Given the description of an element on the screen output the (x, y) to click on. 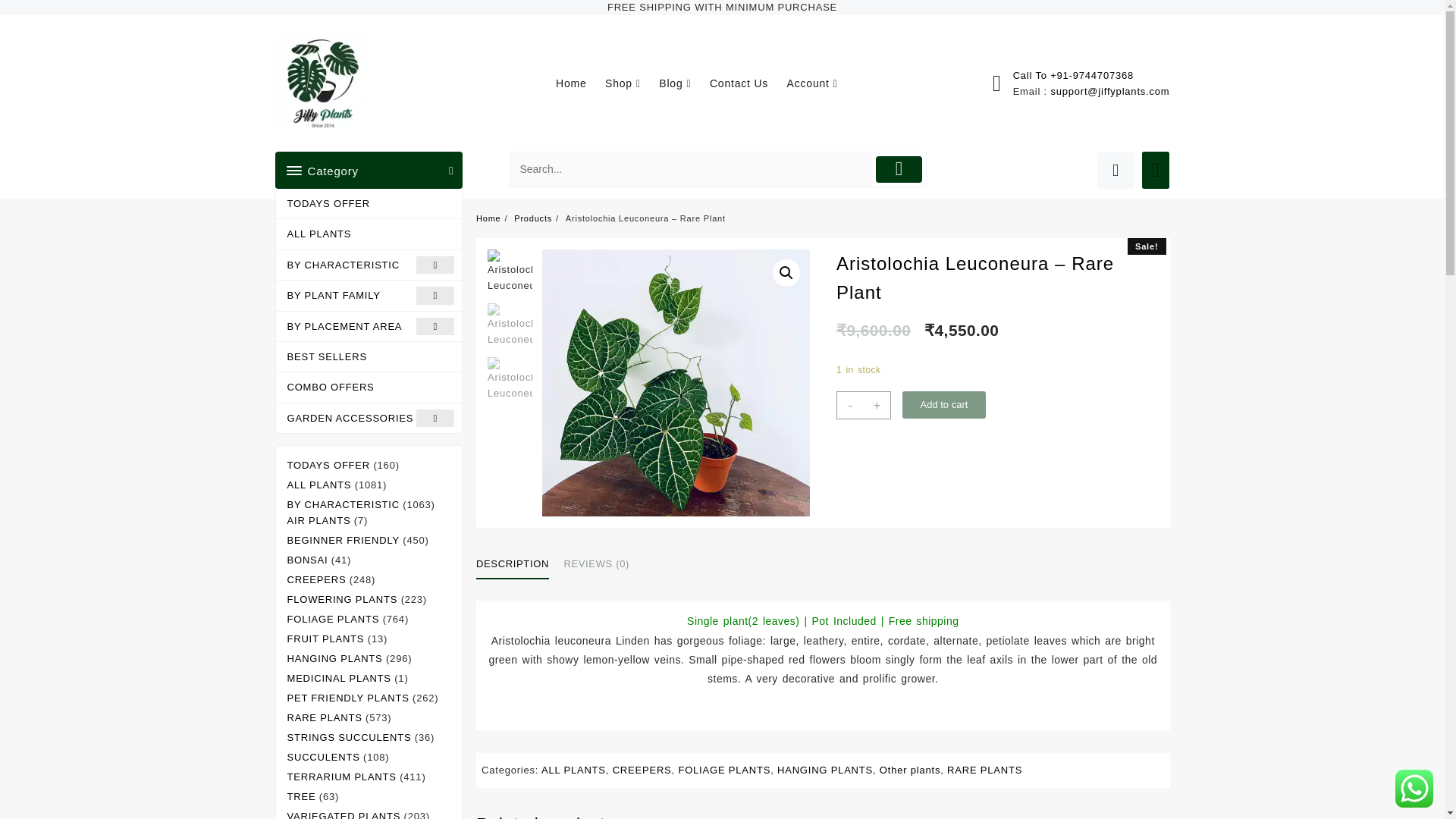
Aristolochia Leuconeura (675, 382)
Search (691, 169)
Home (579, 83)
Shop (630, 83)
Aristolochia Leuconeura (943, 382)
